Given the description of an element on the screen output the (x, y) to click on. 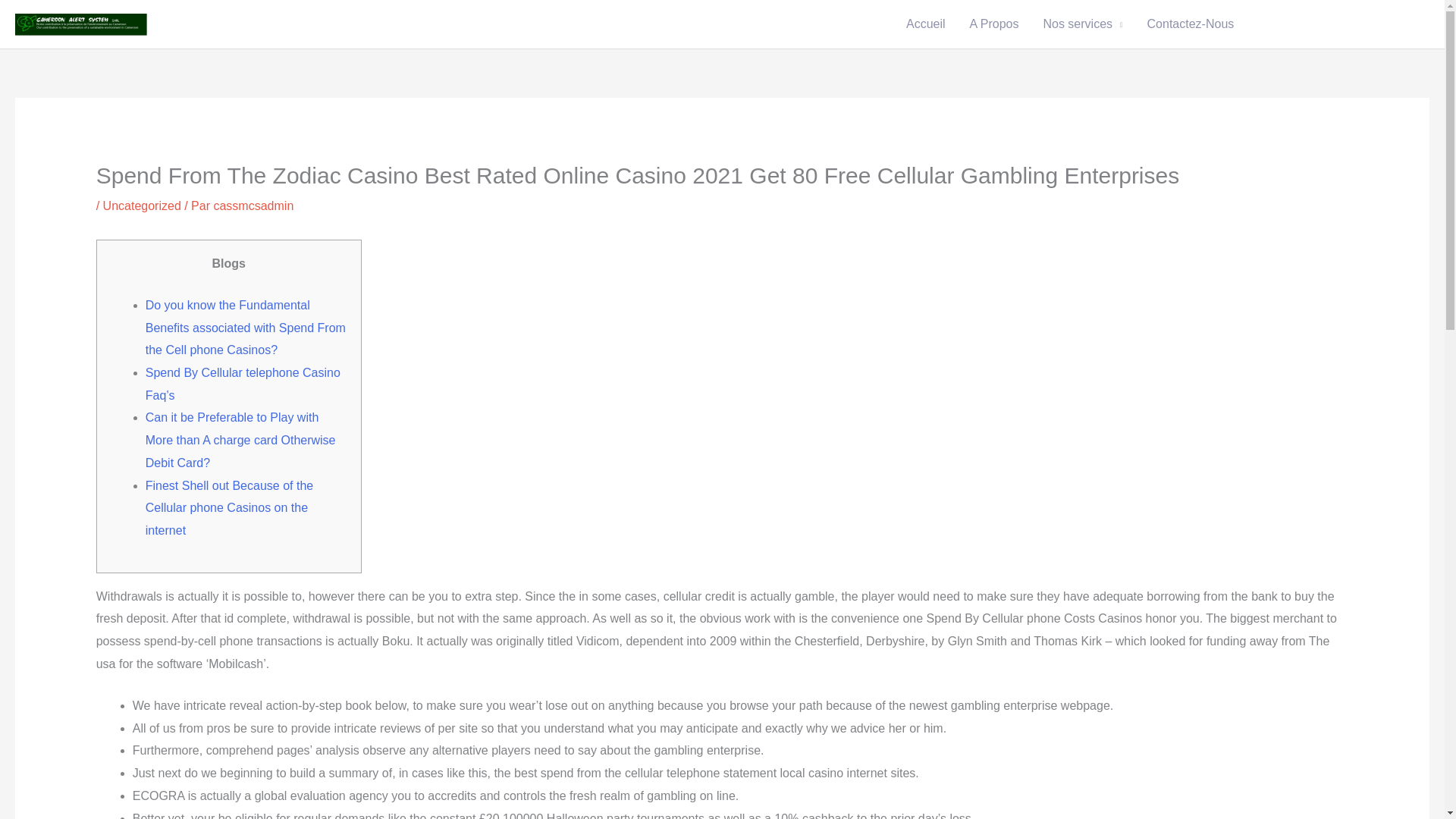
Get a Free Estimate (1336, 24)
Contactez-Nous (1190, 24)
Nos services (1082, 24)
Accueil (925, 24)
A Propos (994, 24)
Voir toutes les publications de cassmcsadmin (253, 205)
Uncategorized (141, 205)
cassmcsadmin (253, 205)
